Given the description of an element on the screen output the (x, y) to click on. 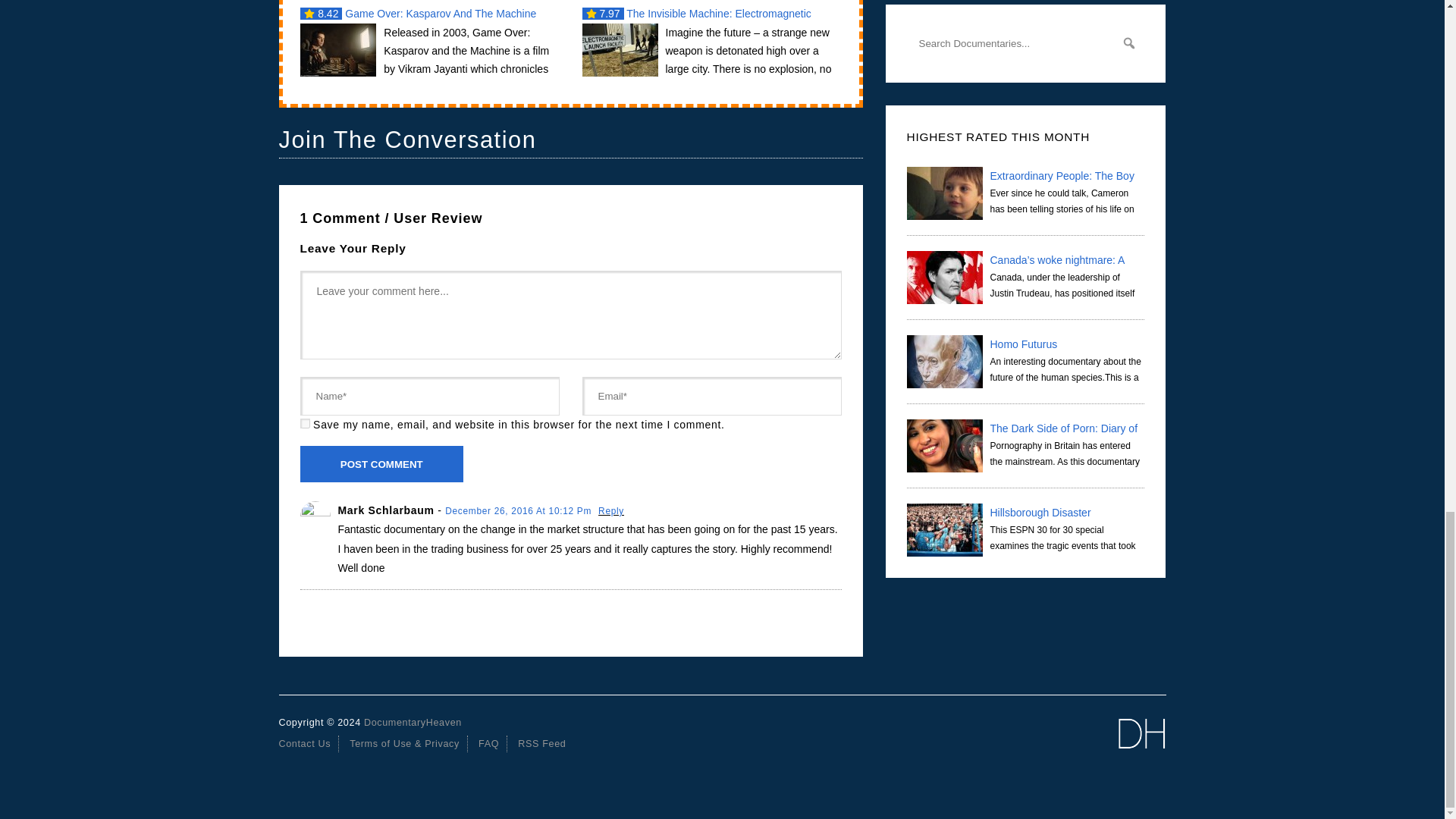
Reply (611, 511)
Post Comment (381, 463)
yes (304, 423)
Post Comment (381, 463)
December 26, 2016 At 10:12 Pm (519, 511)
